Given the description of an element on the screen output the (x, y) to click on. 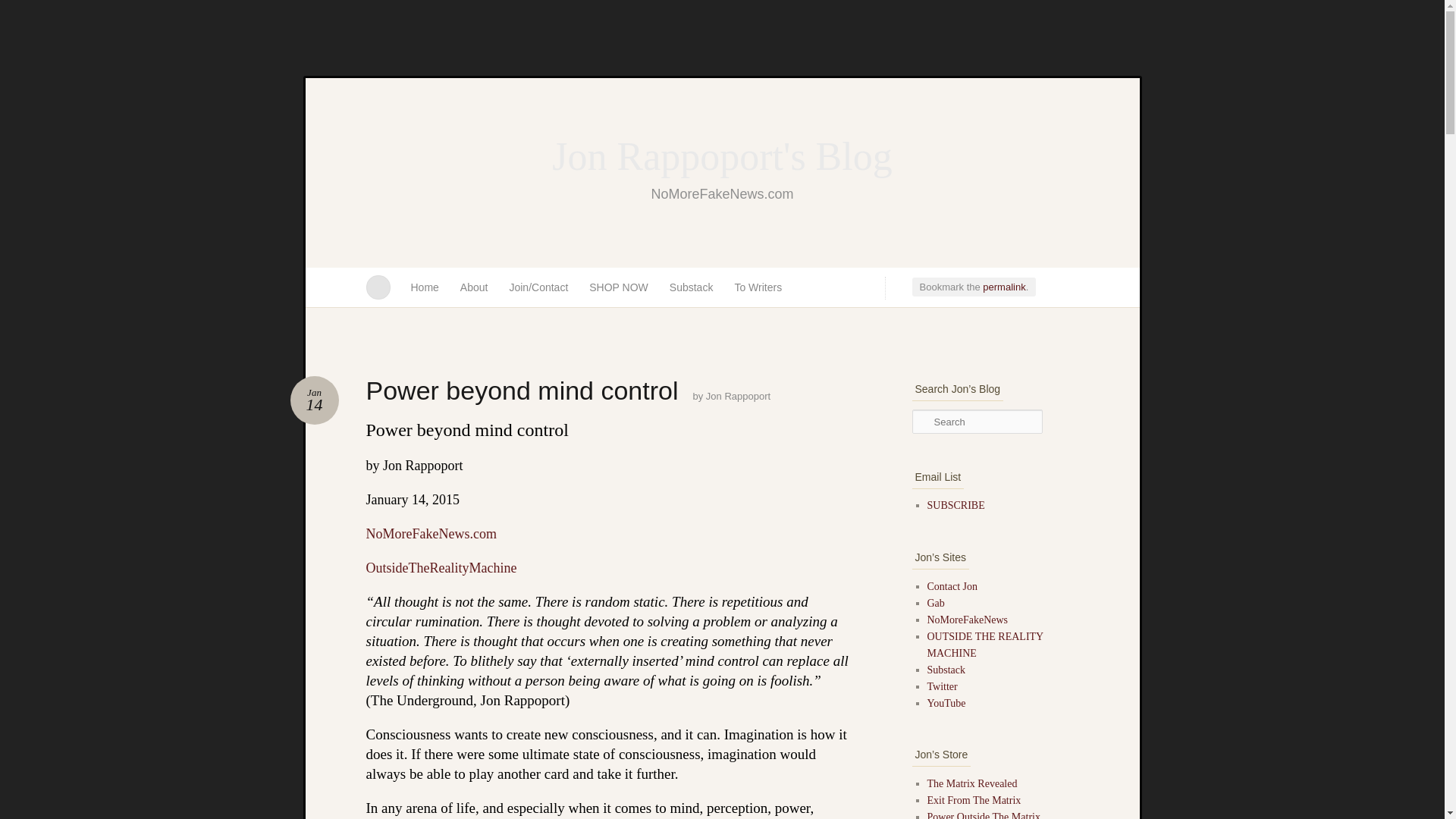
Search (21, 7)
About (474, 287)
View all posts by Jon Rappoport (738, 396)
SHOP NOW (618, 287)
OutsideTheRealityMachine (440, 567)
Jon Rappoport's Blog (313, 400)
January 14 2015 (721, 158)
Jon Rappoport's Blog (313, 400)
permalink (721, 158)
NoMoreFakeNews.com (1003, 286)
Permalink to Power beyond mind control (430, 533)
Jon Rappoport (1003, 286)
To Writers (738, 396)
Home (757, 287)
